Given the description of an element on the screen output the (x, y) to click on. 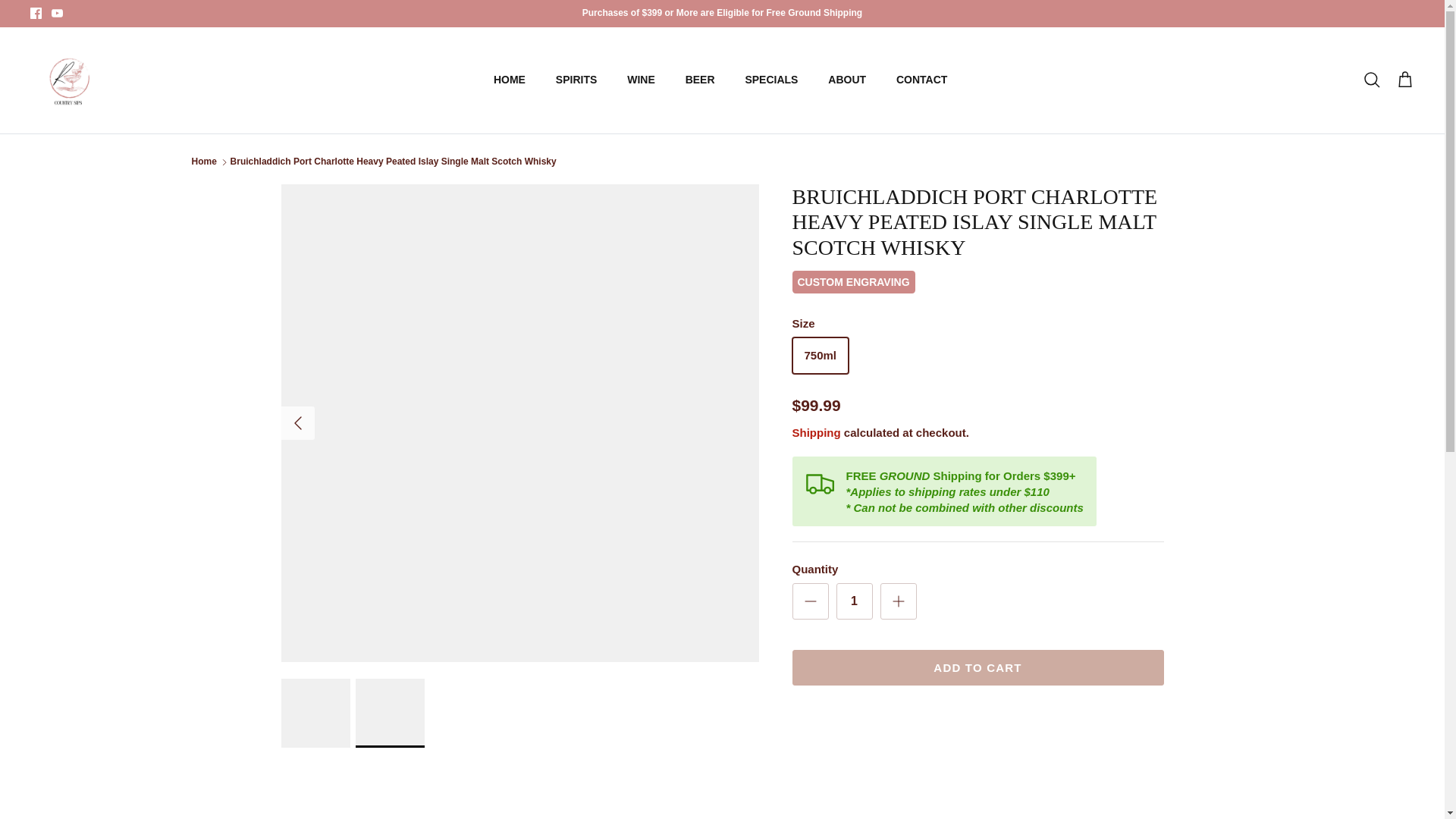
SPECIALS (770, 79)
WINE (640, 79)
Search (1371, 80)
1 (853, 601)
Minus (809, 601)
Cart (1404, 80)
Plus (897, 601)
HOME (509, 79)
COUNTRY SIPS (68, 79)
SPIRITS (575, 79)
